Given the description of an element on the screen output the (x, y) to click on. 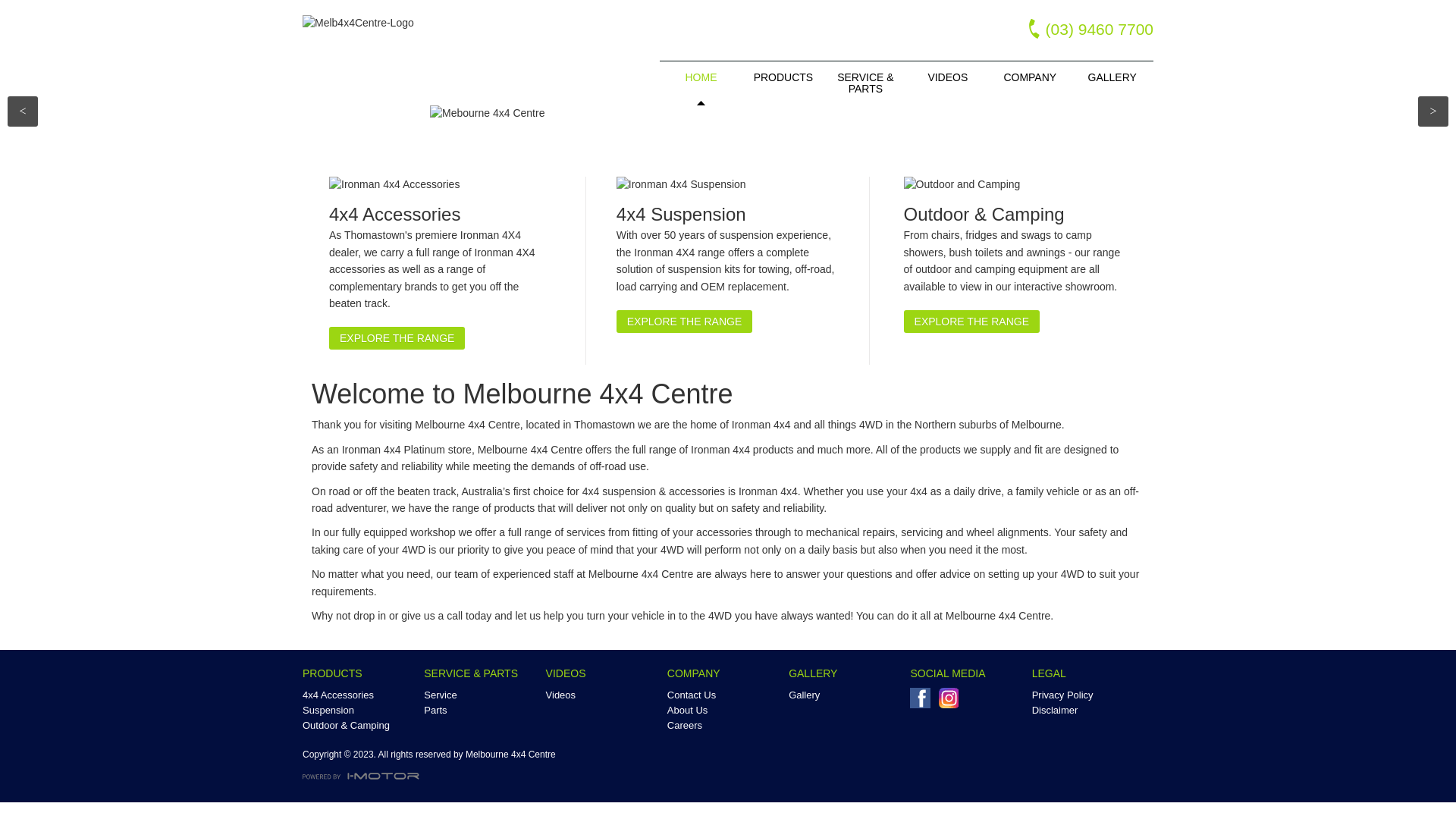
Privacy Policy Element type: text (1089, 694)
VIDEOS Element type: text (947, 77)
SERVICE & PARTS Element type: text (865, 83)
instagram Element type: text (952, 701)
GALLERY Element type: text (1112, 77)
facebook Element type: text (924, 701)
4x4 Accessories Element type: text (440, 214)
Suspension Element type: text (359, 710)
EXPLORE THE RANGE Element type: text (396, 337)
Videos Element type: text (603, 694)
Outdoor & Camping Element type: text (1014, 214)
4x4 Suspension Element type: text (727, 214)
4x4 Accessories Element type: text (359, 694)
Gallery Element type: text (845, 694)
Contact Us Element type: text (724, 694)
Parts Element type: text (481, 710)
Service Element type: text (481, 694)
COMPANY Element type: text (1029, 77)
Disclaimer Element type: text (1089, 710)
EXPLORE THE RANGE Element type: text (971, 321)
HOME Element type: text (700, 77)
PRODUCTS Element type: text (783, 77)
EXPLORE THE RANGE Element type: text (684, 321)
(03) 9460 7700 Element type: text (1079, 26)
Careers Element type: text (724, 725)
About Us Element type: text (724, 710)
Outdoor & Camping Element type: text (359, 725)
